Given the description of an element on the screen output the (x, y) to click on. 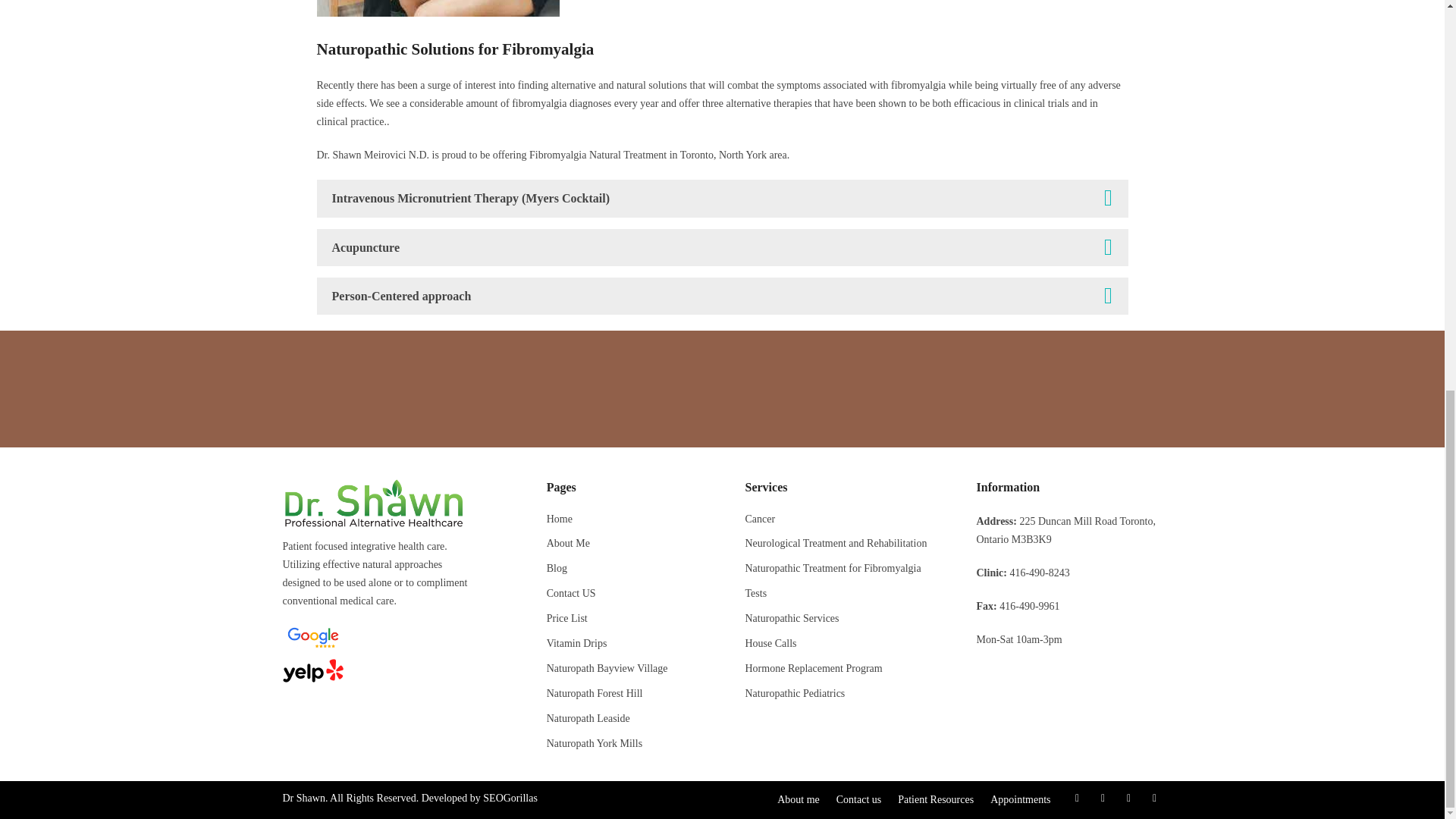
Blog (557, 568)
Home (559, 518)
Contact US (571, 593)
Price List (567, 618)
About Me (568, 542)
